Given the description of an element on the screen output the (x, y) to click on. 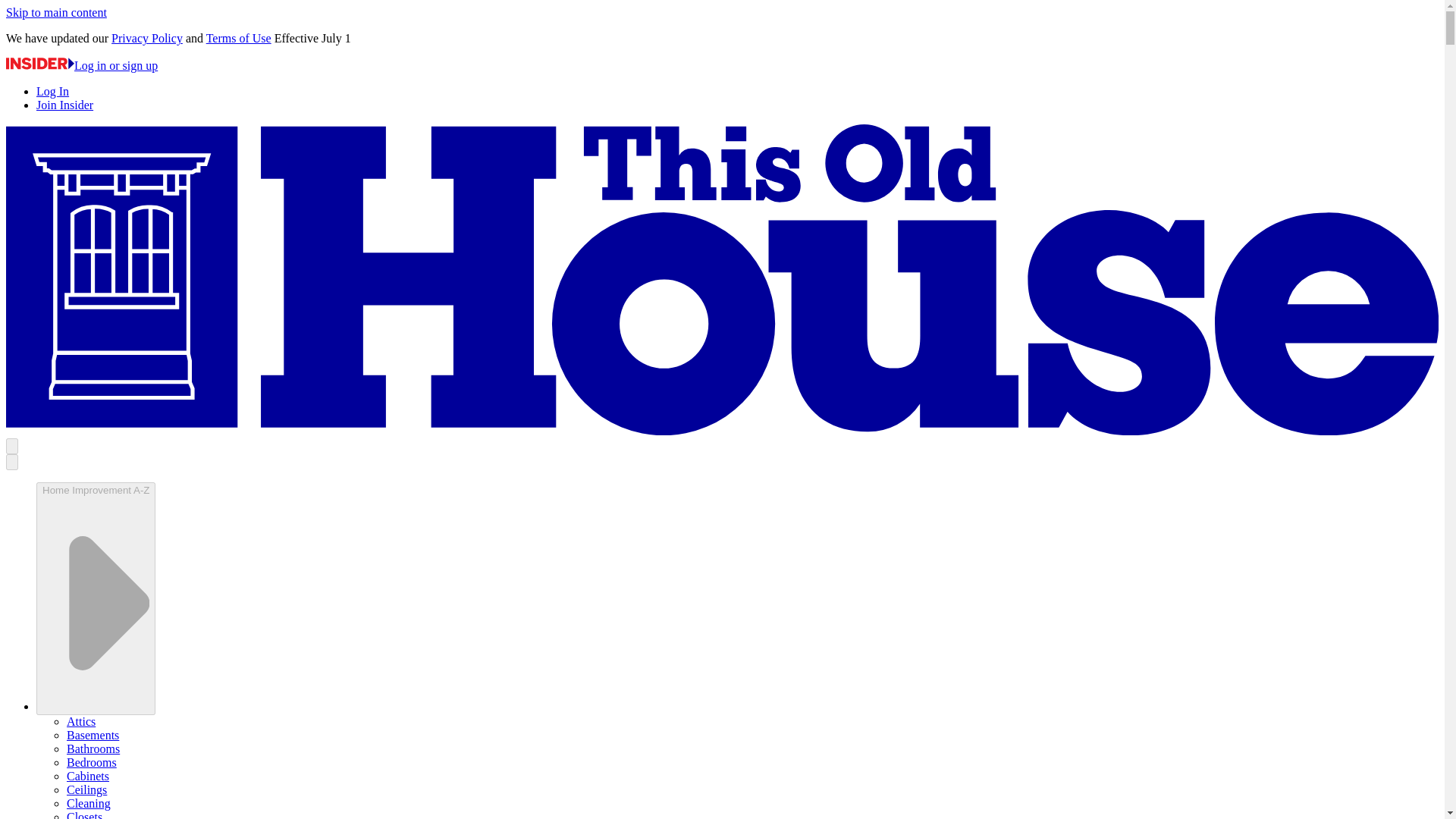
Basements (92, 735)
Skip to main content (55, 11)
Ceilings (86, 789)
Closets (83, 814)
Log In (52, 91)
Cleaning (88, 802)
Bathrooms (92, 748)
Log in or sign up (81, 65)
Attics (81, 721)
Cabinets (87, 775)
